Given the description of an element on the screen output the (x, y) to click on. 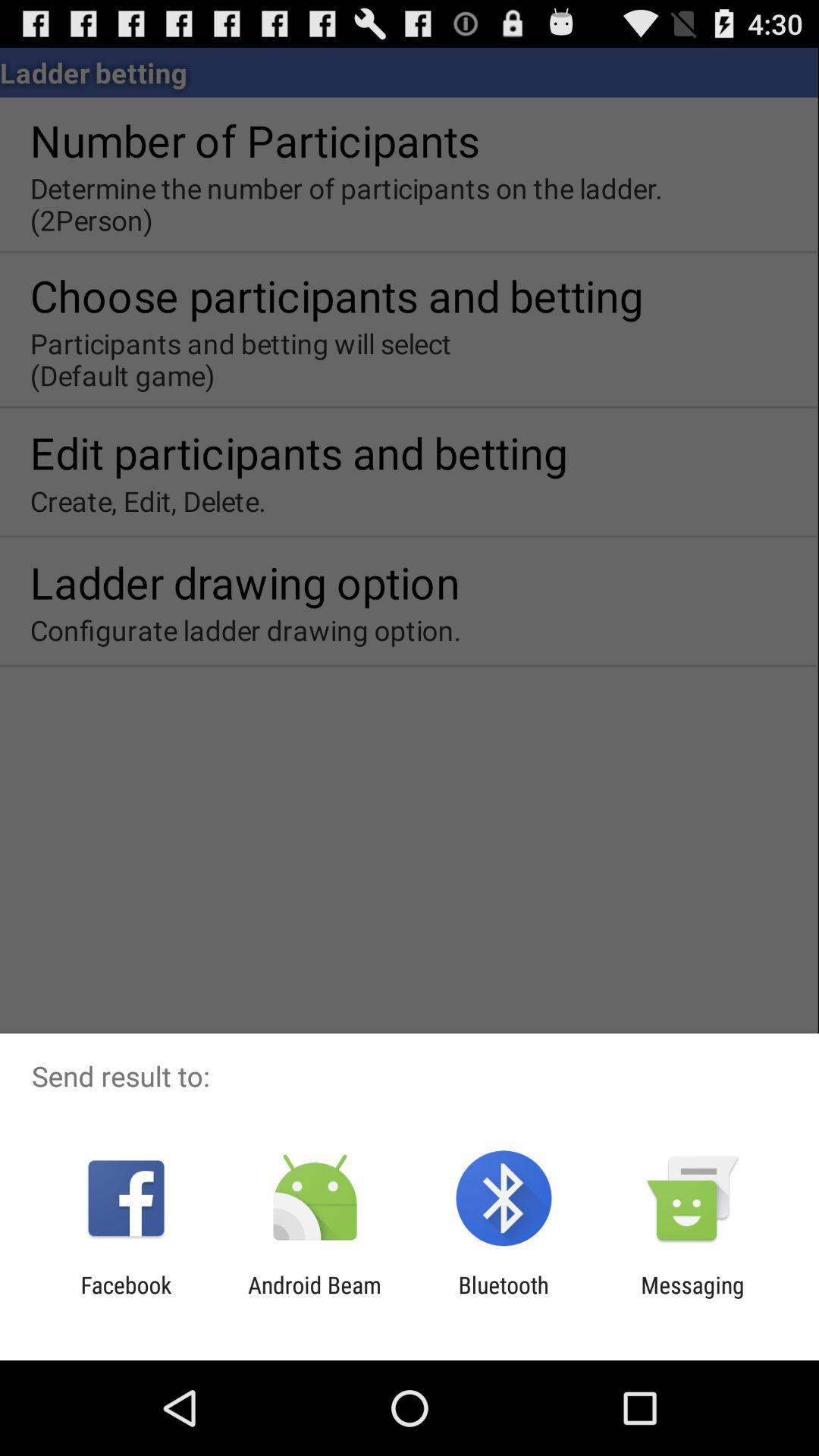
choose the item to the left of the messaging item (503, 1298)
